Given the description of an element on the screen output the (x, y) to click on. 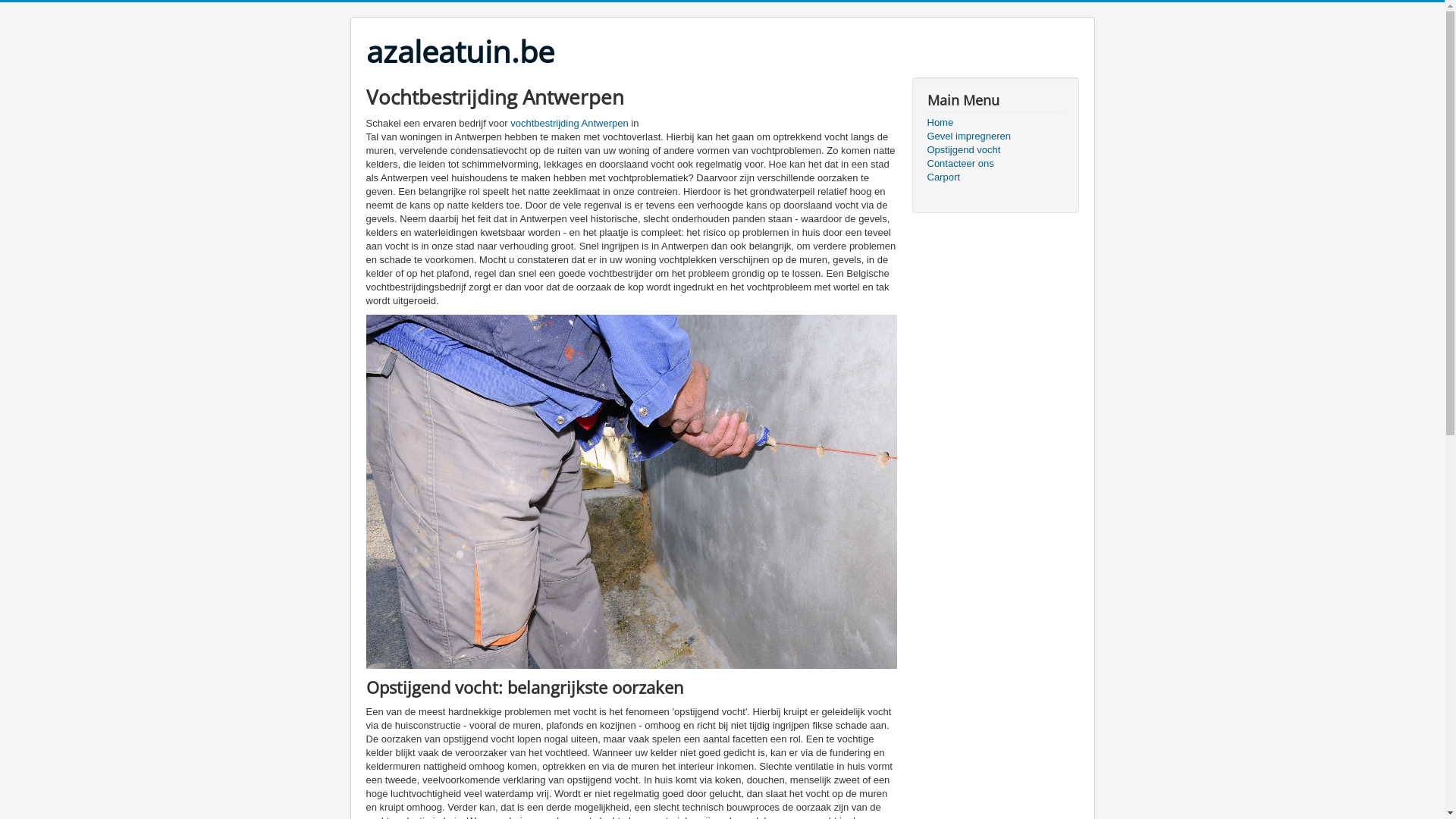
Contacteer ons Element type: text (994, 163)
Gevel impregneren Element type: text (994, 136)
azaleatuin.be Element type: text (459, 51)
vochtbestrijding Antwerpen Element type: text (568, 122)
Opstijgend vocht Element type: text (994, 149)
Carport Element type: text (994, 177)
Home Element type: text (994, 122)
